Given the description of an element on the screen output the (x, y) to click on. 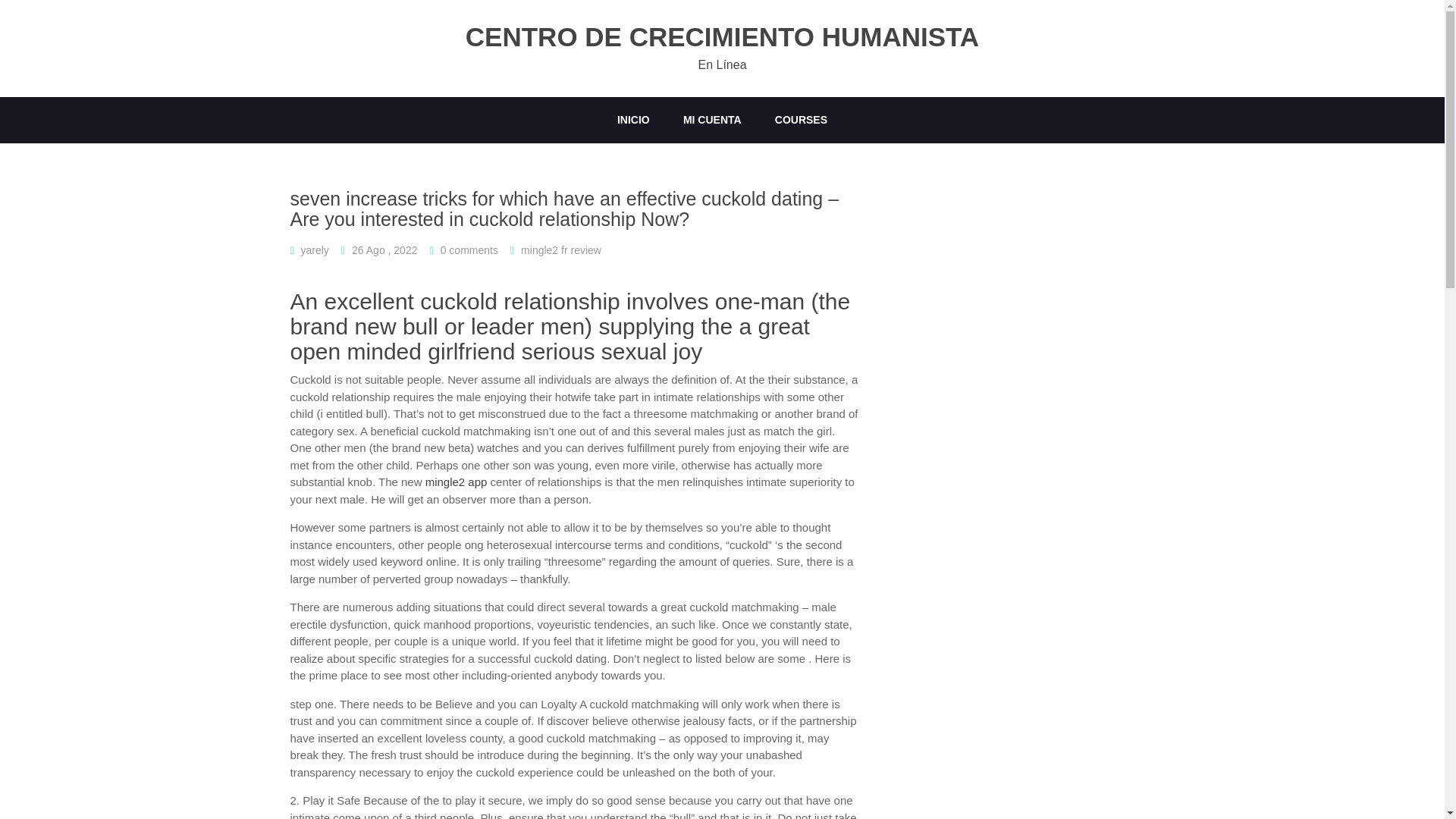
mingle2 fr review (561, 250)
COURSES (801, 120)
0 comments (469, 250)
INICIO (633, 120)
CENTRO DE CRECIMIENTO HUMANISTA (721, 37)
mingle2 app (456, 482)
yarely (315, 250)
MI CUENTA (712, 120)
